Given the description of an element on the screen output the (x, y) to click on. 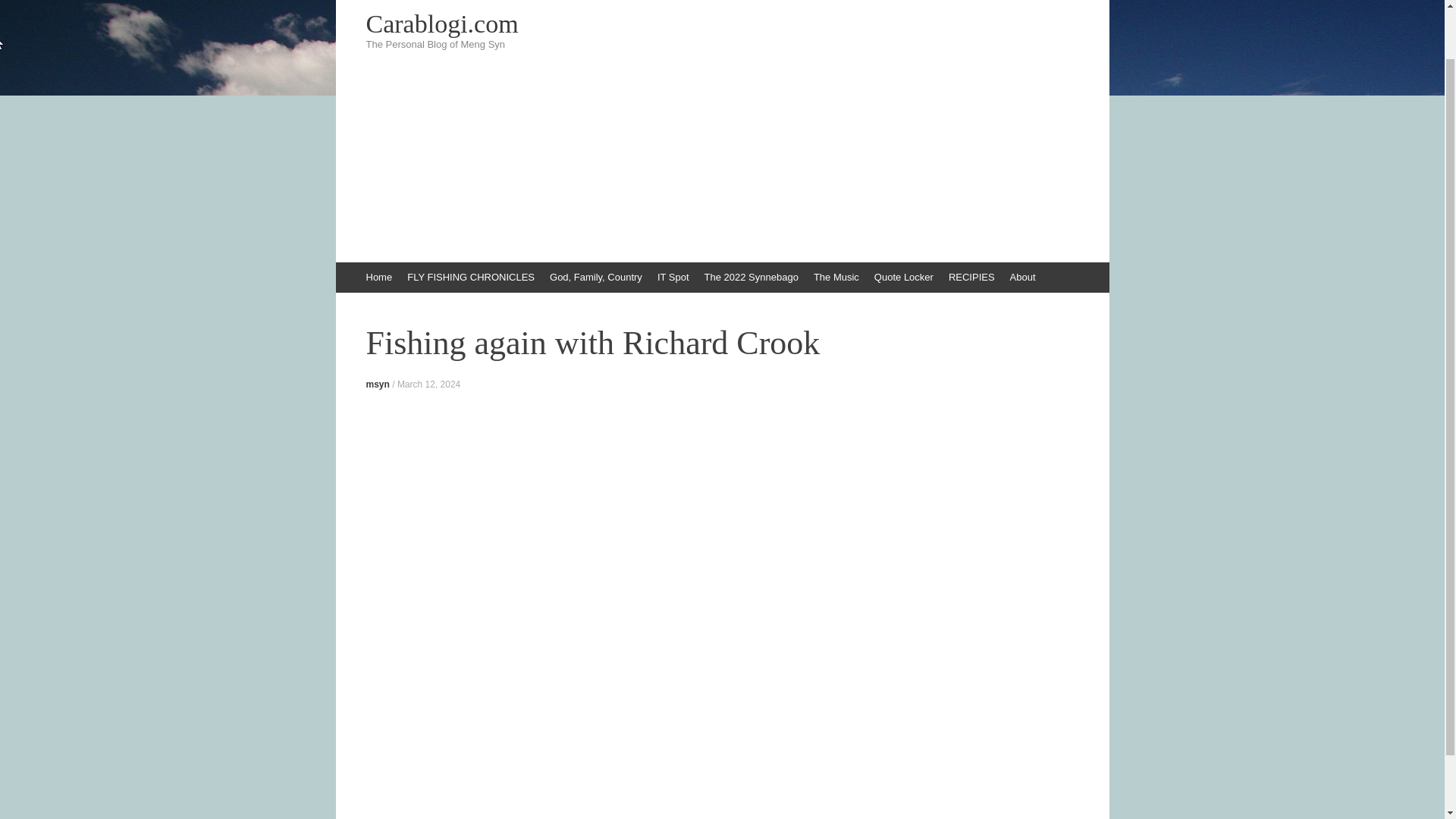
Skip to content (342, 269)
Home (378, 277)
Carablogi.com (721, 23)
FLY FISHING CHRONICLES (469, 277)
Carablogi.com (721, 23)
God, Family, Country (595, 277)
